Given the description of an element on the screen output the (x, y) to click on. 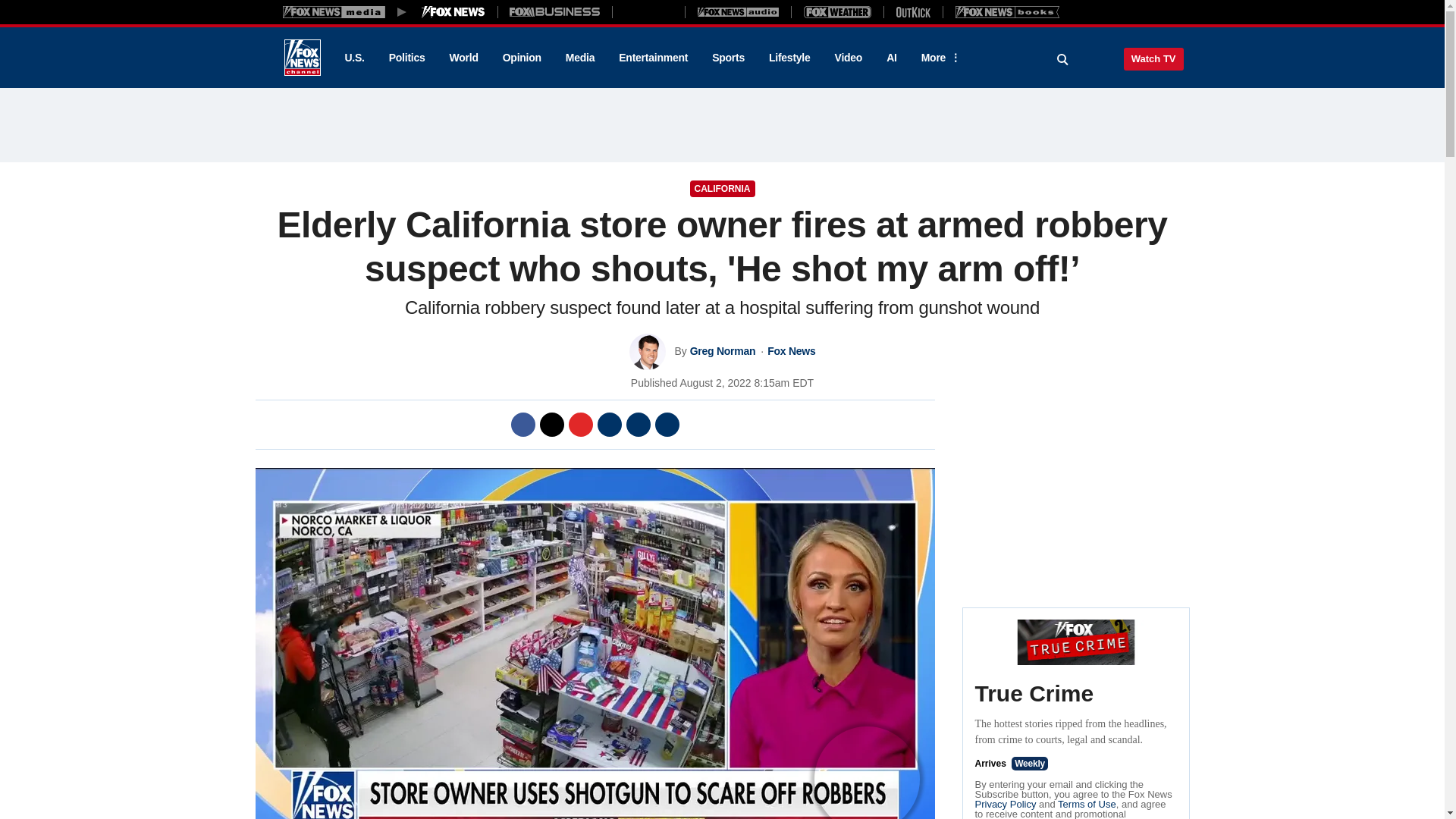
Sports (728, 57)
Lifestyle (789, 57)
World (464, 57)
Outkick (912, 11)
Fox News Audio (737, 11)
Fox Nation (648, 11)
Media (580, 57)
Politics (407, 57)
Watch TV (1153, 58)
Fox Business (554, 11)
